Given the description of an element on the screen output the (x, y) to click on. 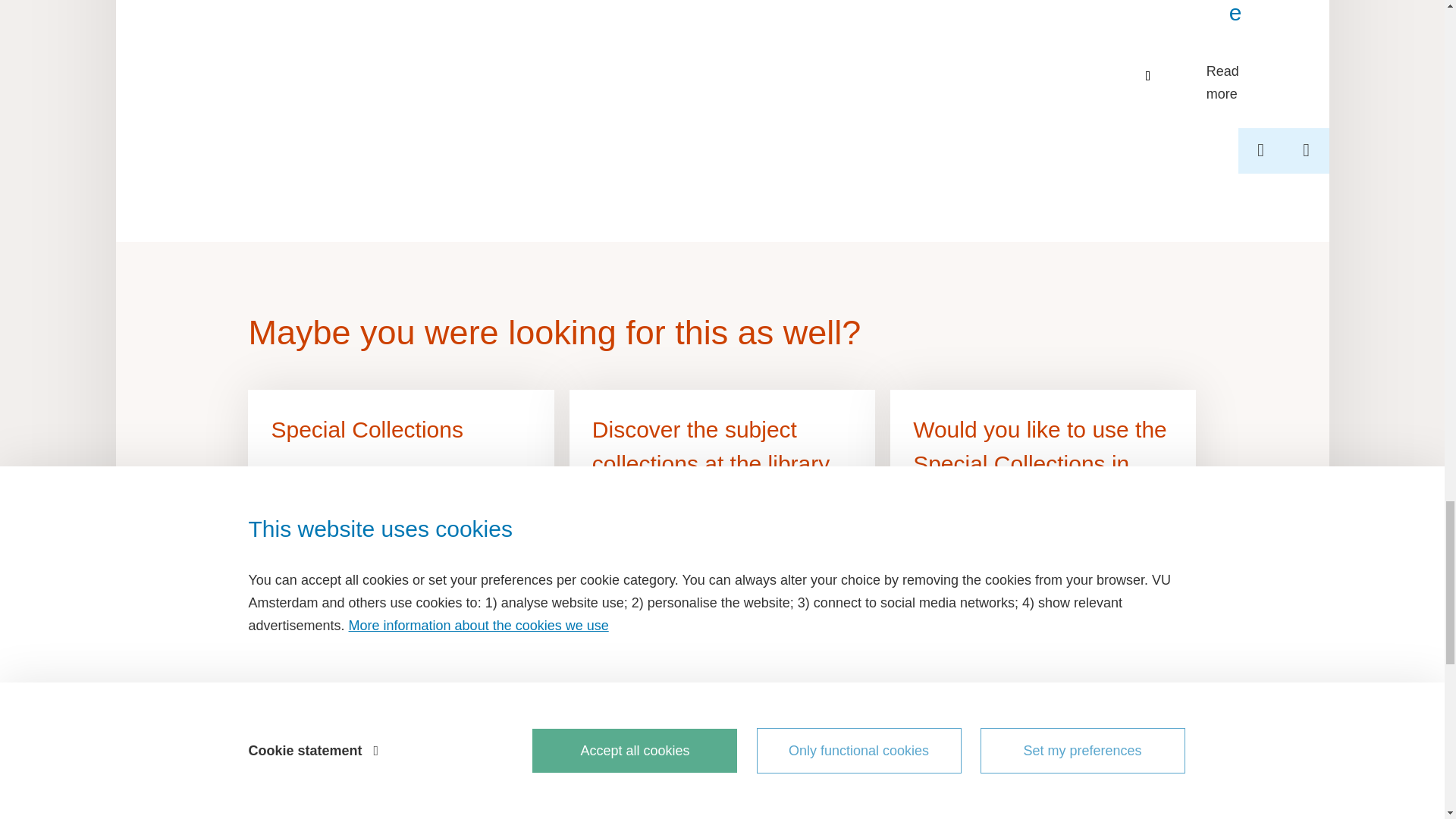
Discover the subject collections at the library (722, 480)
Special Collections (400, 480)
Cartographic Literature (1237, 26)
Read more (1237, 82)
